Given the description of an element on the screen output the (x, y) to click on. 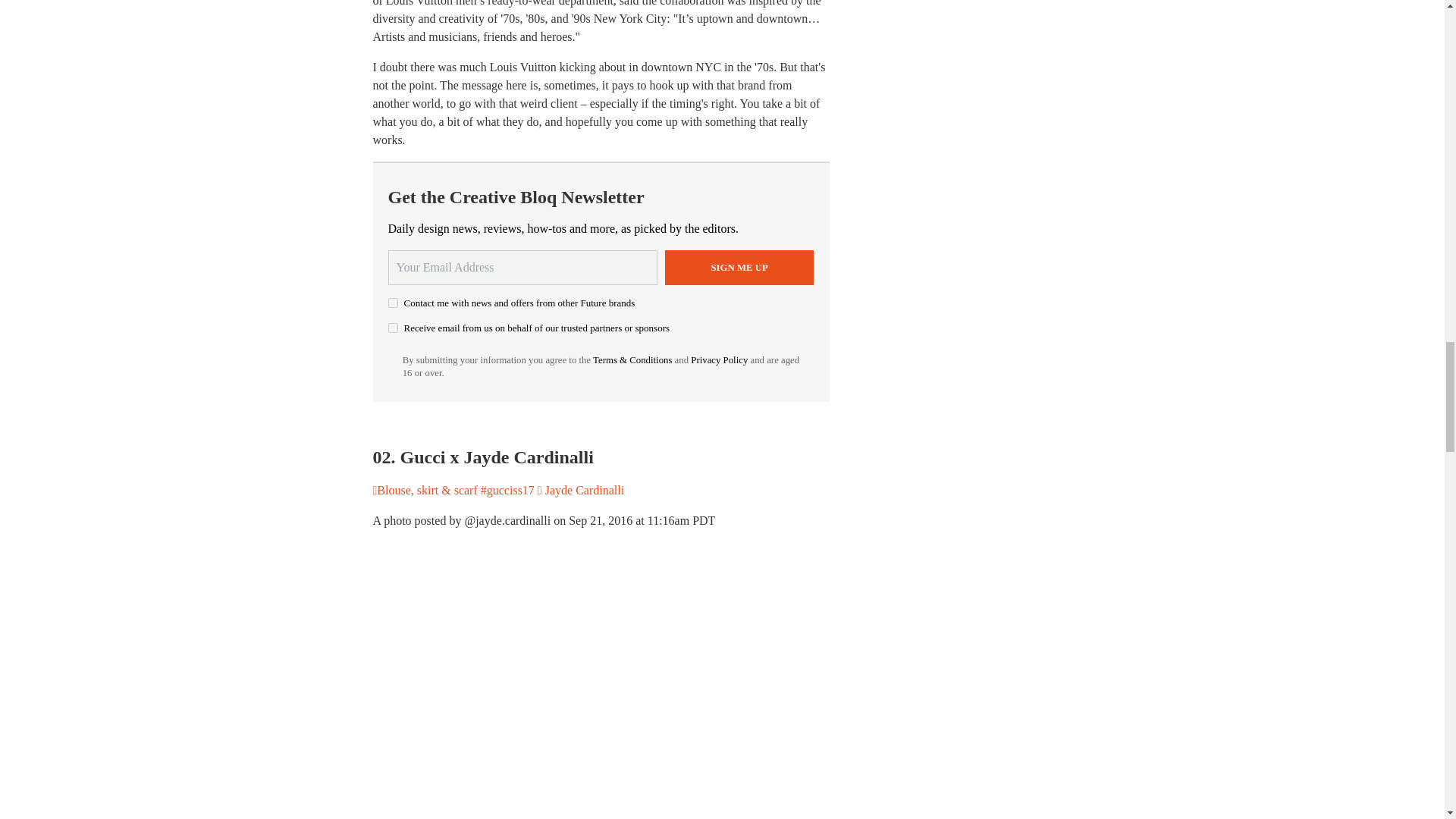
Sign me up (739, 267)
on (392, 327)
on (392, 302)
